Given the description of an element on the screen output the (x, y) to click on. 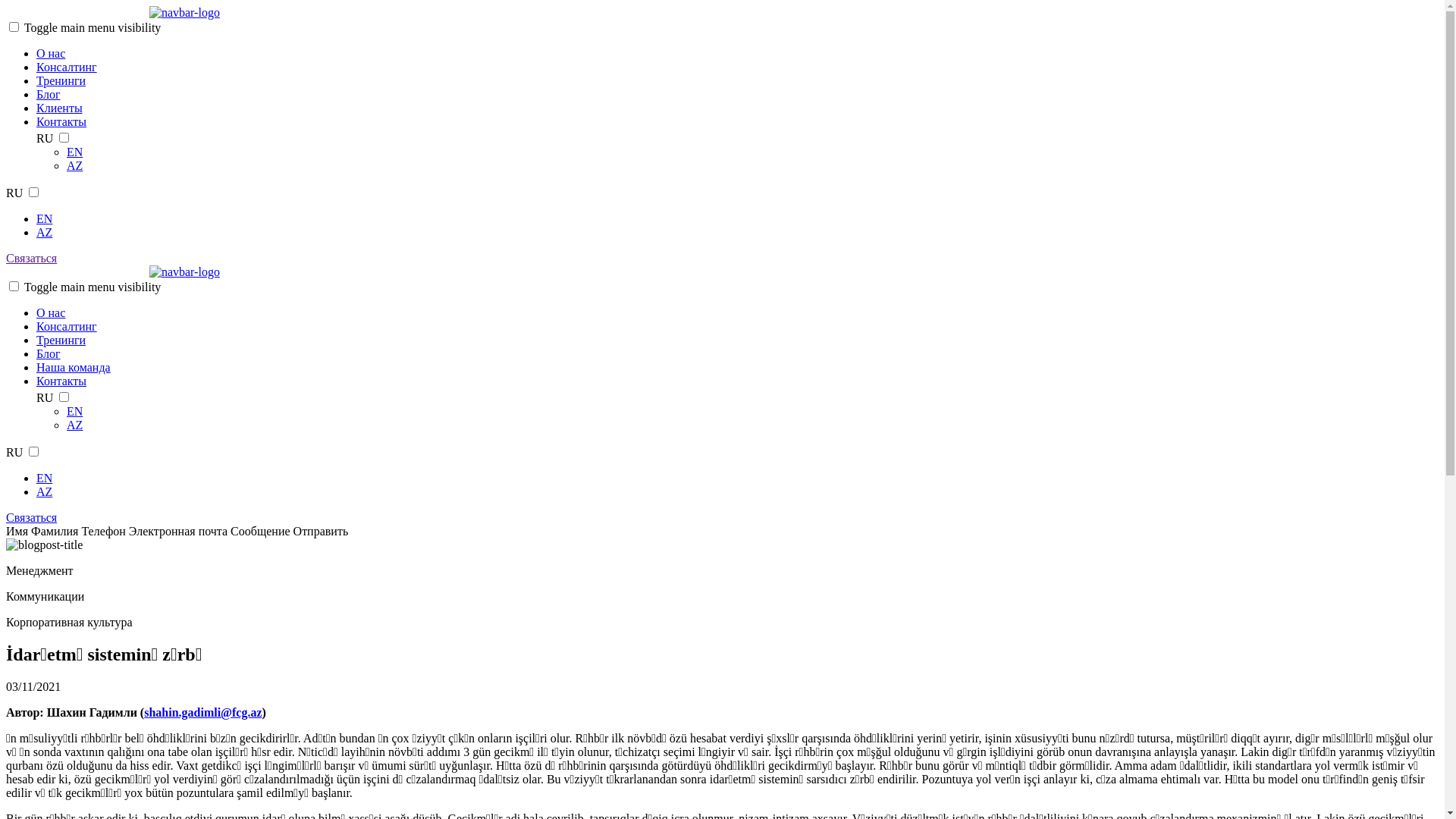
AZ Element type: text (74, 165)
AZ Element type: text (44, 231)
EN Element type: text (74, 151)
shahin.gadimli@fcg.az Element type: text (202, 712)
EN Element type: text (44, 218)
EN Element type: text (44, 477)
AZ Element type: text (74, 424)
EN Element type: text (74, 410)
AZ Element type: text (44, 491)
